Given the description of an element on the screen output the (x, y) to click on. 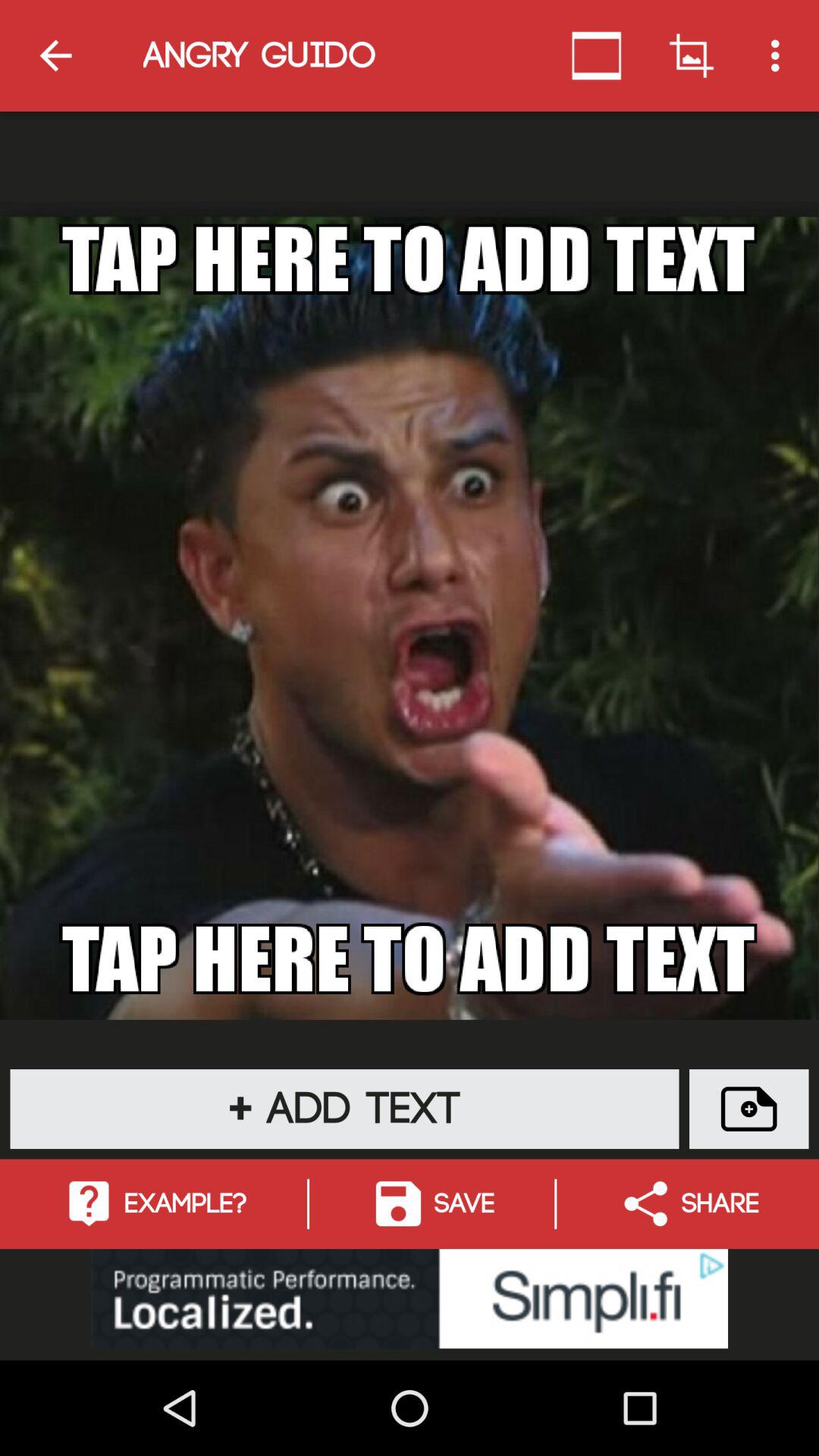
save file (748, 1108)
